Given the description of an element on the screen output the (x, y) to click on. 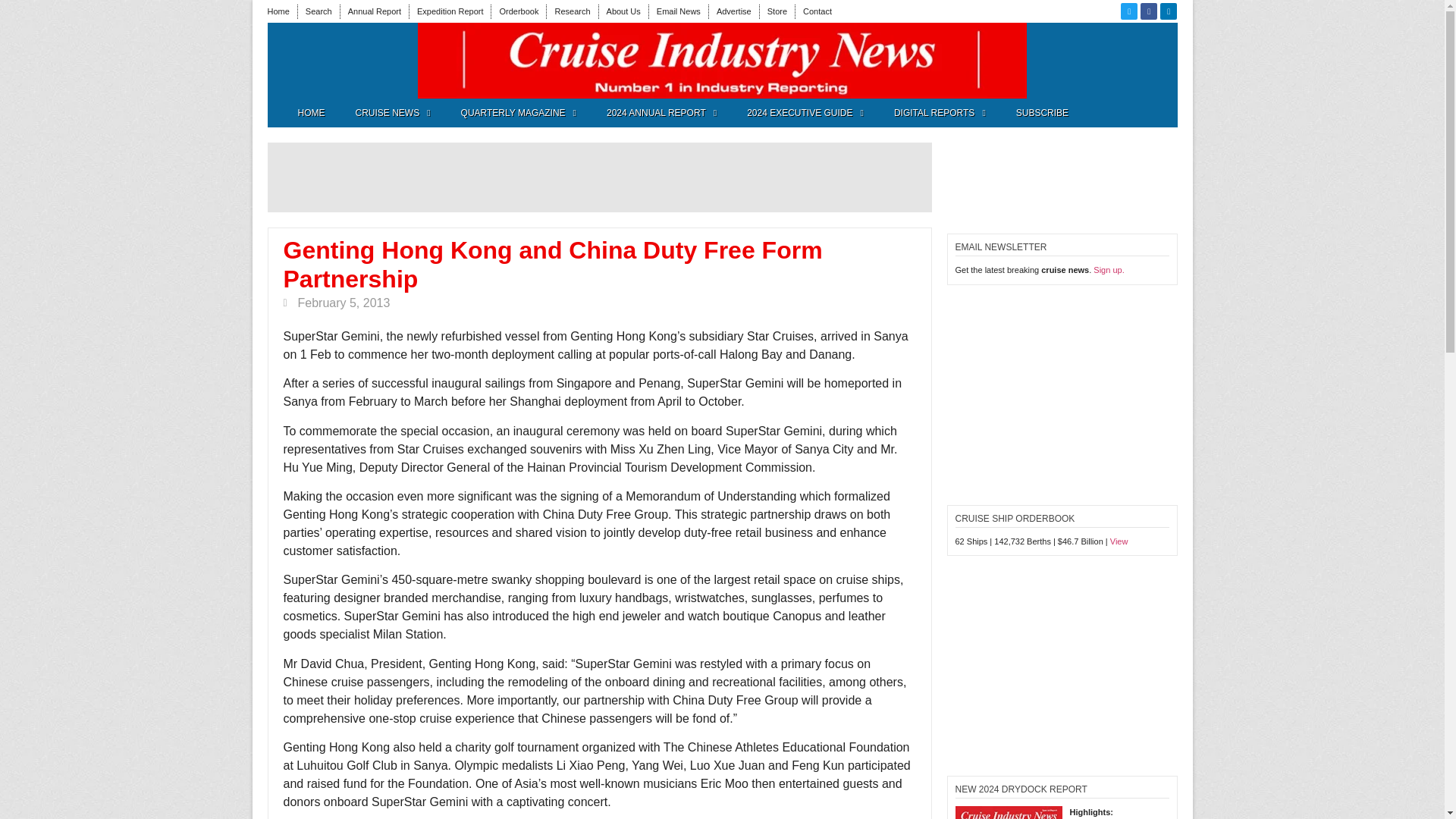
Expedition Report (449, 11)
CRUISE NEWS (392, 112)
Email News (678, 11)
Search (318, 11)
Orderbook (518, 11)
3rd party ad content (341, 60)
3rd party ad content (599, 177)
Store (777, 11)
Home (277, 11)
Annual Report (374, 11)
Advertise (733, 11)
QUARTERLY MAGAZINE (518, 112)
HOME (310, 112)
Contact (817, 11)
Research (571, 11)
